Given the description of an element on the screen output the (x, y) to click on. 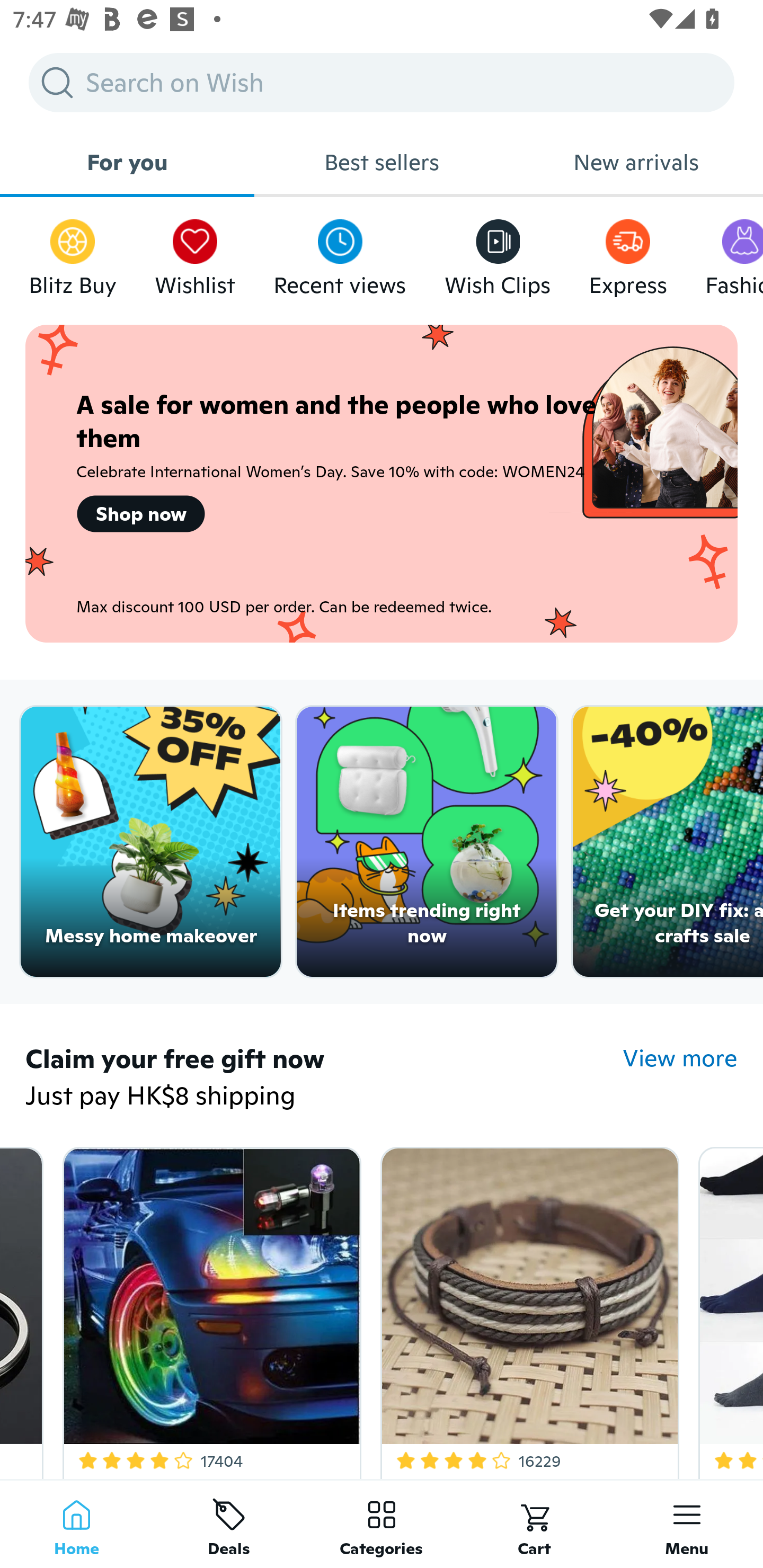
Search on Wish (381, 82)
For you (127, 161)
Best sellers (381, 161)
New arrivals (635, 161)
Blitz Buy (72, 252)
Wishlist (194, 252)
Recent views (339, 252)
Wish Clips (497, 252)
Express (627, 252)
Fashion (734, 252)
Messy home makeover (150, 841)
Items trending right now (426, 841)
Get your DIY fix: arts & crafts sale (668, 841)
Claim your free gift now
Just pay HK$8 shipping (323, 1078)
View more (679, 1058)
3.8 Star Rating 17404 Free (208, 1308)
3.8 Star Rating 16229 Free (526, 1308)
Home (76, 1523)
Deals (228, 1523)
Categories (381, 1523)
Cart (533, 1523)
Menu (686, 1523)
